Given the description of an element on the screen output the (x, y) to click on. 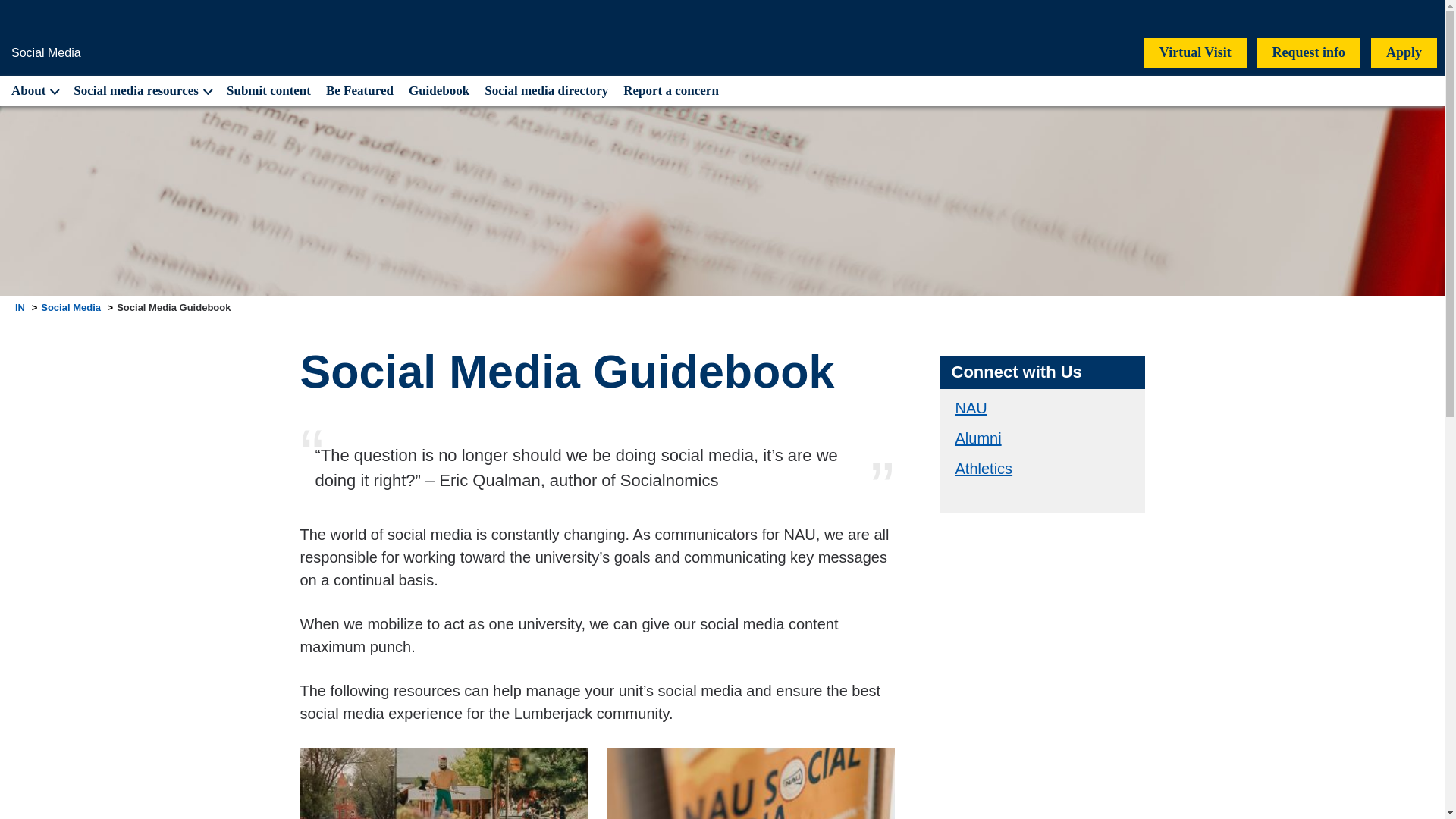
Submit content (268, 91)
Apply (1404, 52)
NAU Social Media Policy and Guidebook (751, 782)
Athletics (984, 468)
Virtual Visit (1195, 52)
NAU Social Media Directory Requirements (443, 782)
Be Featured (359, 91)
About (32, 91)
NAU (971, 407)
Social Media (70, 307)
